Given the description of an element on the screen output the (x, y) to click on. 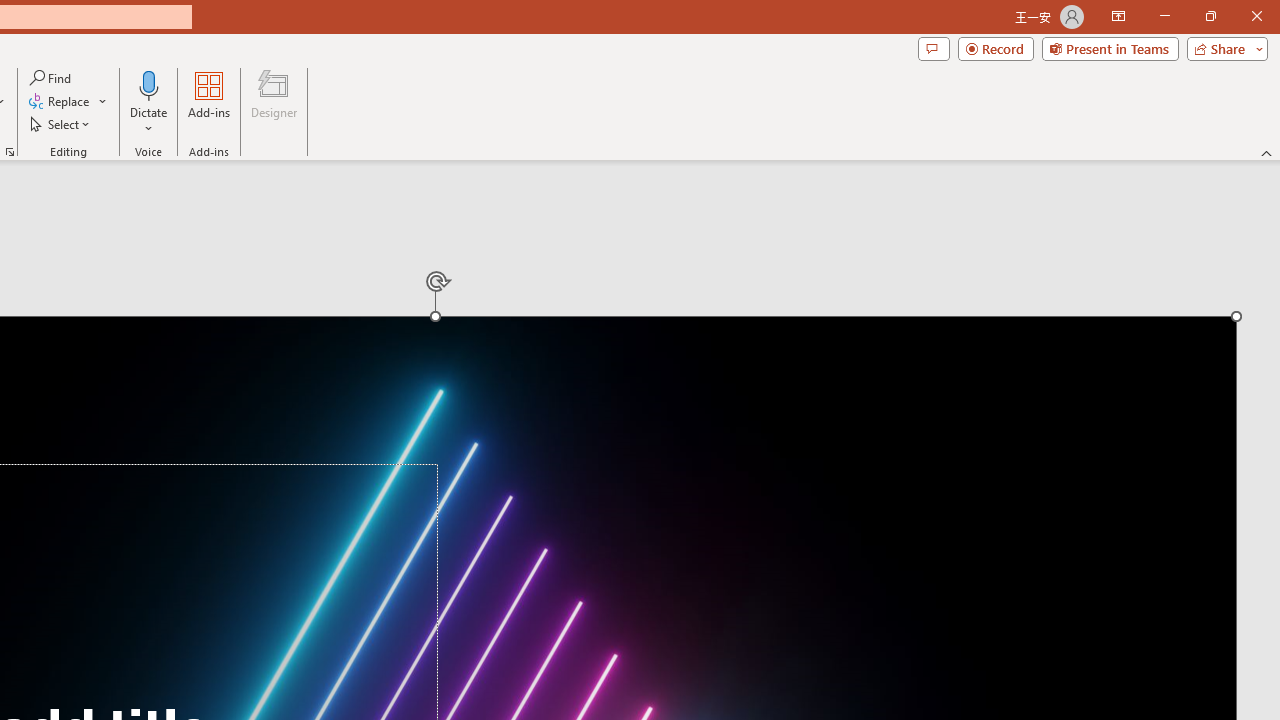
Replace... (68, 101)
